Given the description of an element on the screen output the (x, y) to click on. 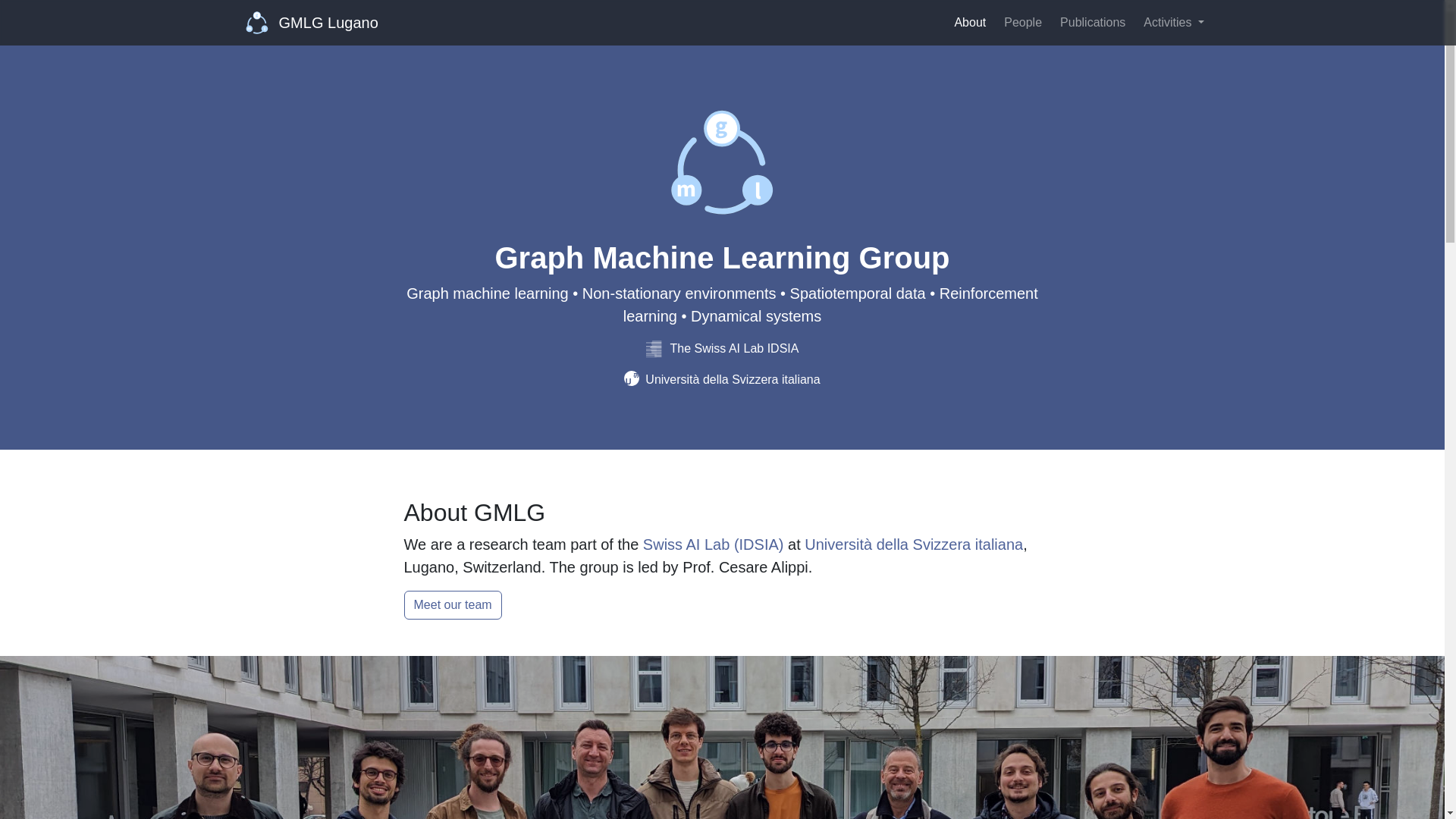
Meet our team (451, 604)
The Swiss AI Lab IDSIA (722, 348)
Publications (1092, 22)
People (1022, 22)
GMLG Lugano (312, 22)
About (969, 22)
Activities (1173, 22)
